Given the description of an element on the screen output the (x, y) to click on. 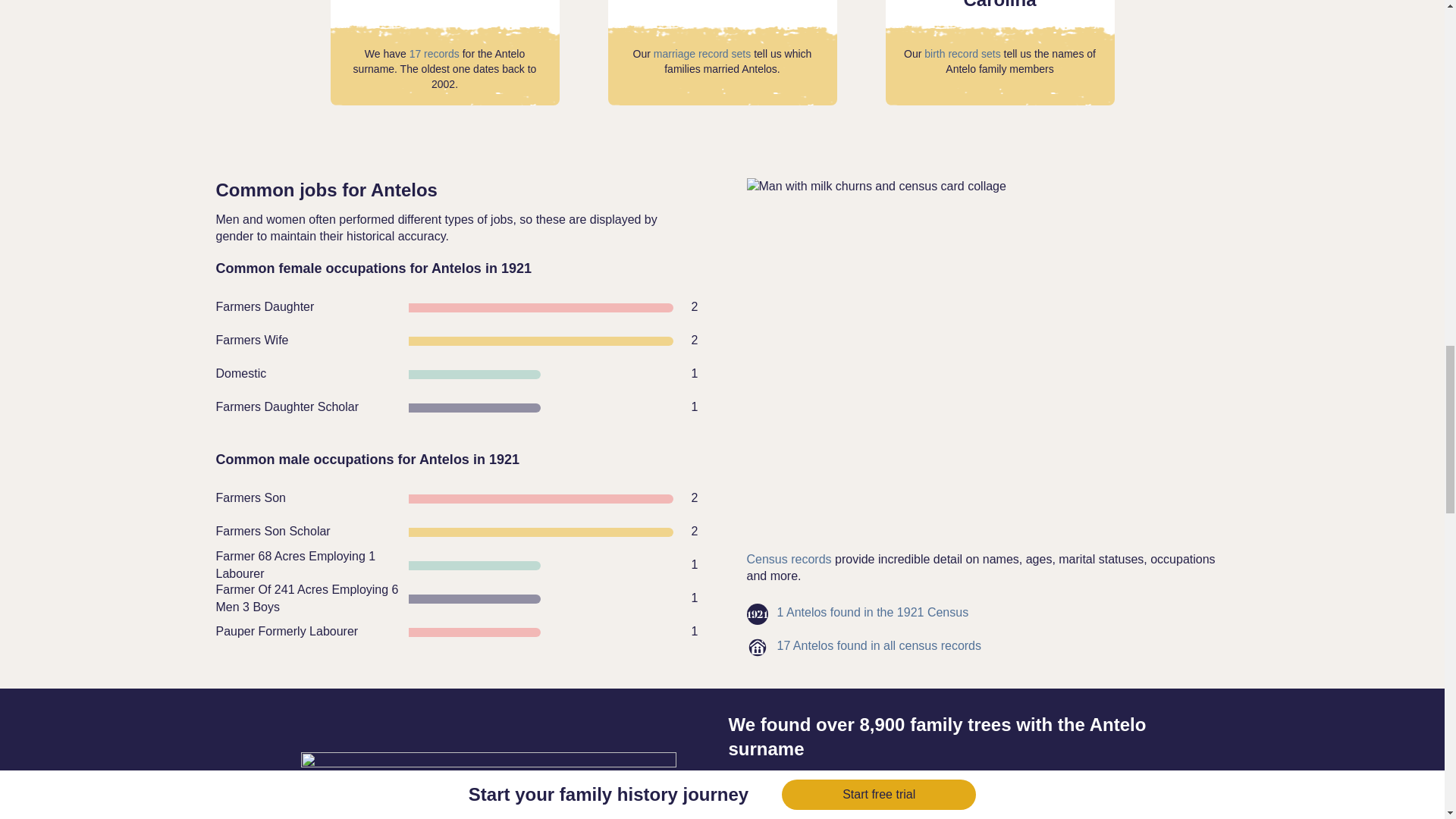
17 records (434, 53)
17 Antelos found in all census records (878, 646)
Census records (788, 558)
marriage record sets (702, 53)
birth record sets (962, 53)
1 Antelos found in the 1921 Census (871, 612)
